Given the description of an element on the screen output the (x, y) to click on. 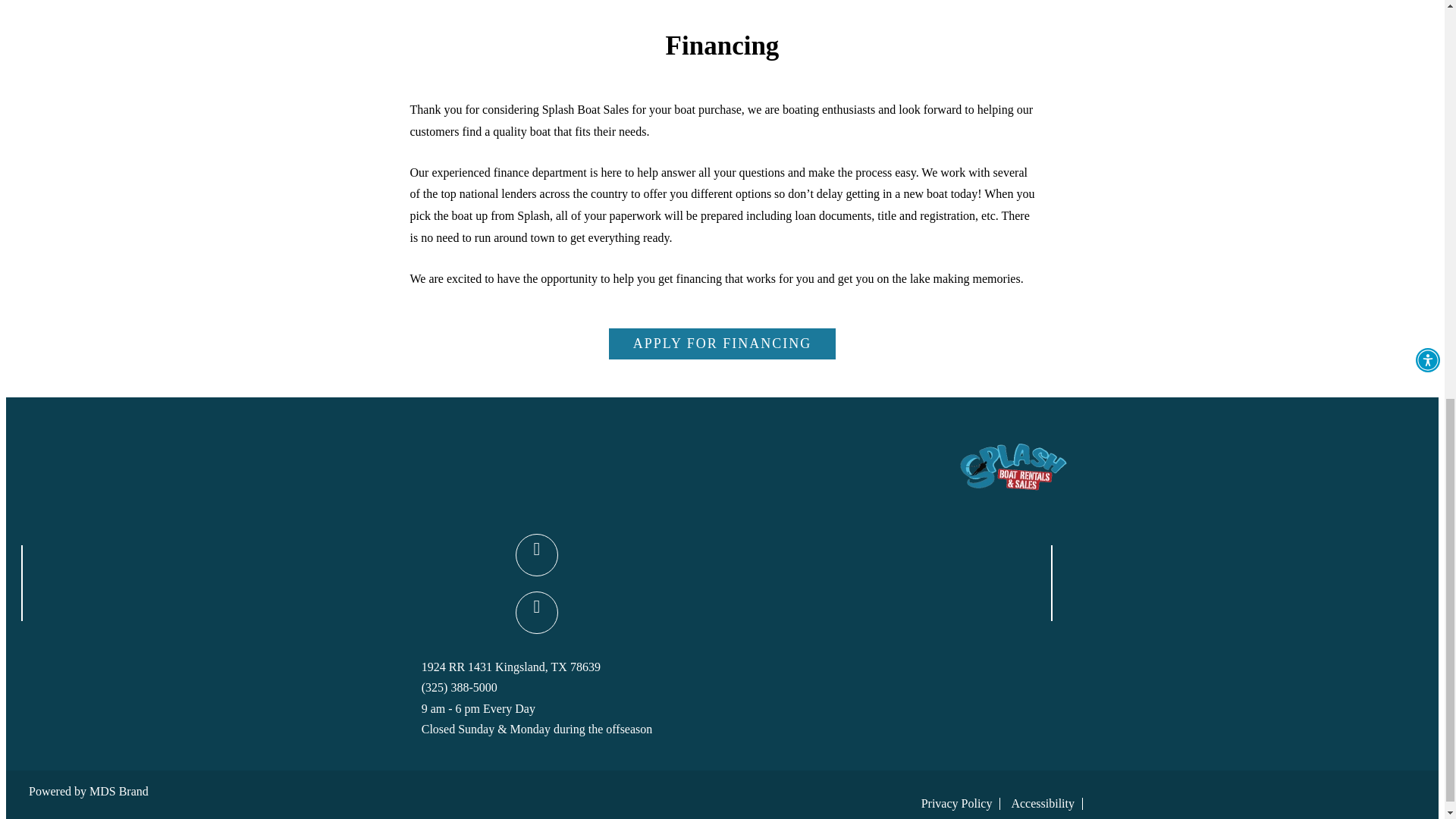
APPLY FOR FINANCING (721, 343)
Powered by MDS Brand (88, 790)
Privacy Policy (956, 802)
Accessibility (1042, 802)
